Given the description of an element on the screen output the (x, y) to click on. 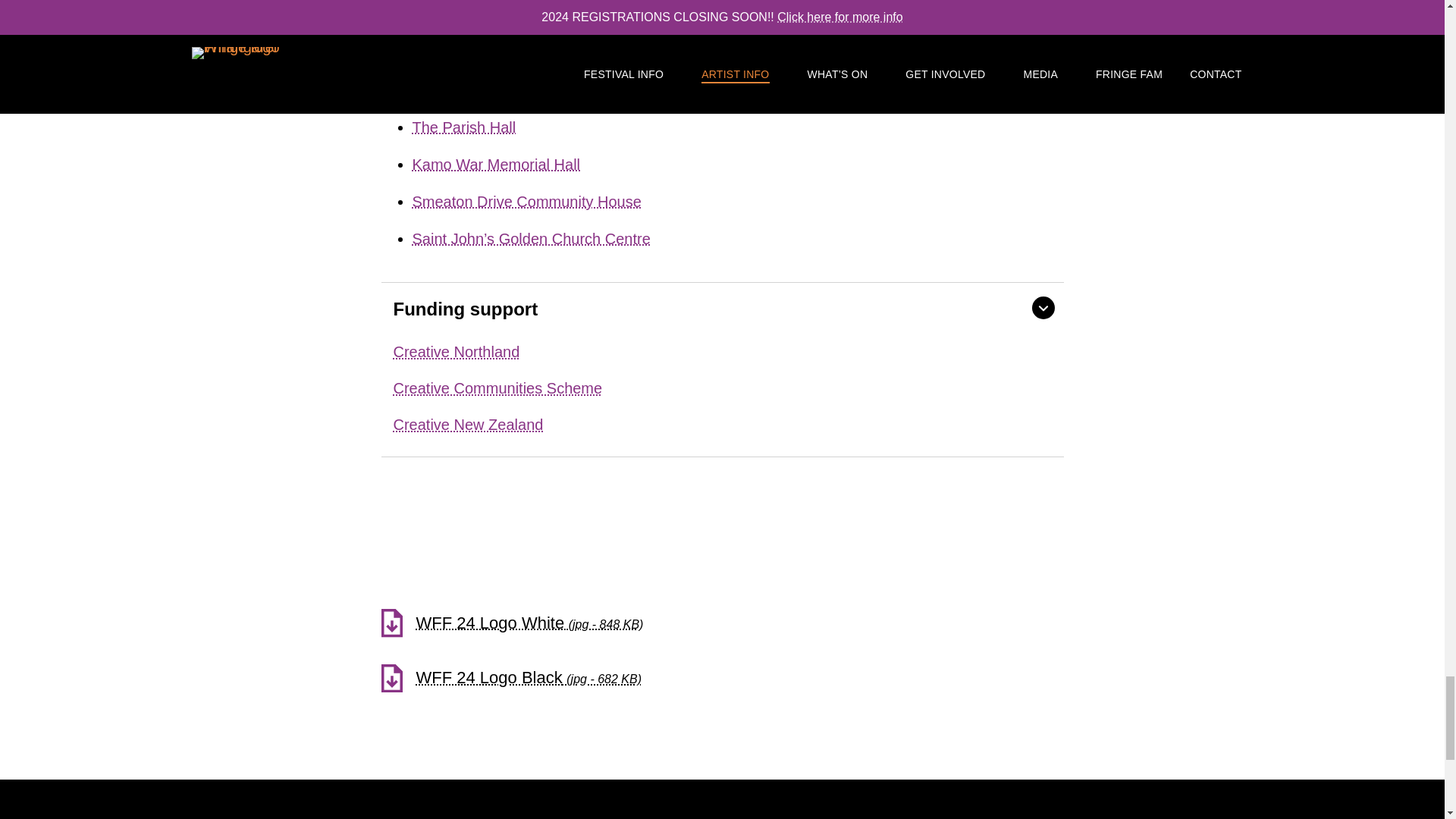
The Parish Hall (464, 127)
Kamo War Memorial Hall (496, 164)
Glenbervie Hall (464, 89)
